Given the description of an element on the screen output the (x, y) to click on. 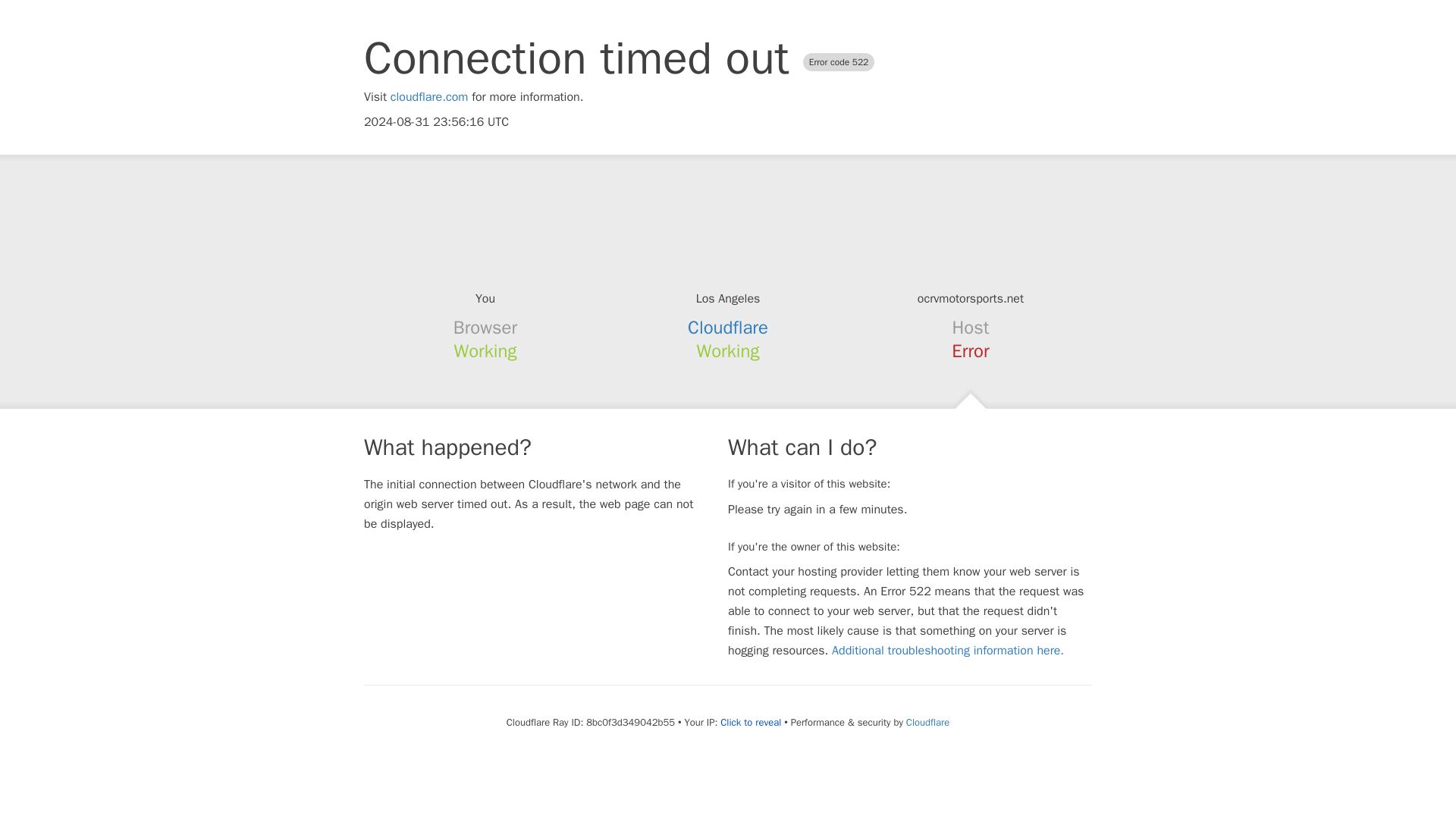
Cloudflare (927, 721)
Additional troubleshooting information here. (947, 650)
cloudflare.com (429, 96)
Cloudflare (727, 327)
Click to reveal (750, 722)
